Given the description of an element on the screen output the (x, y) to click on. 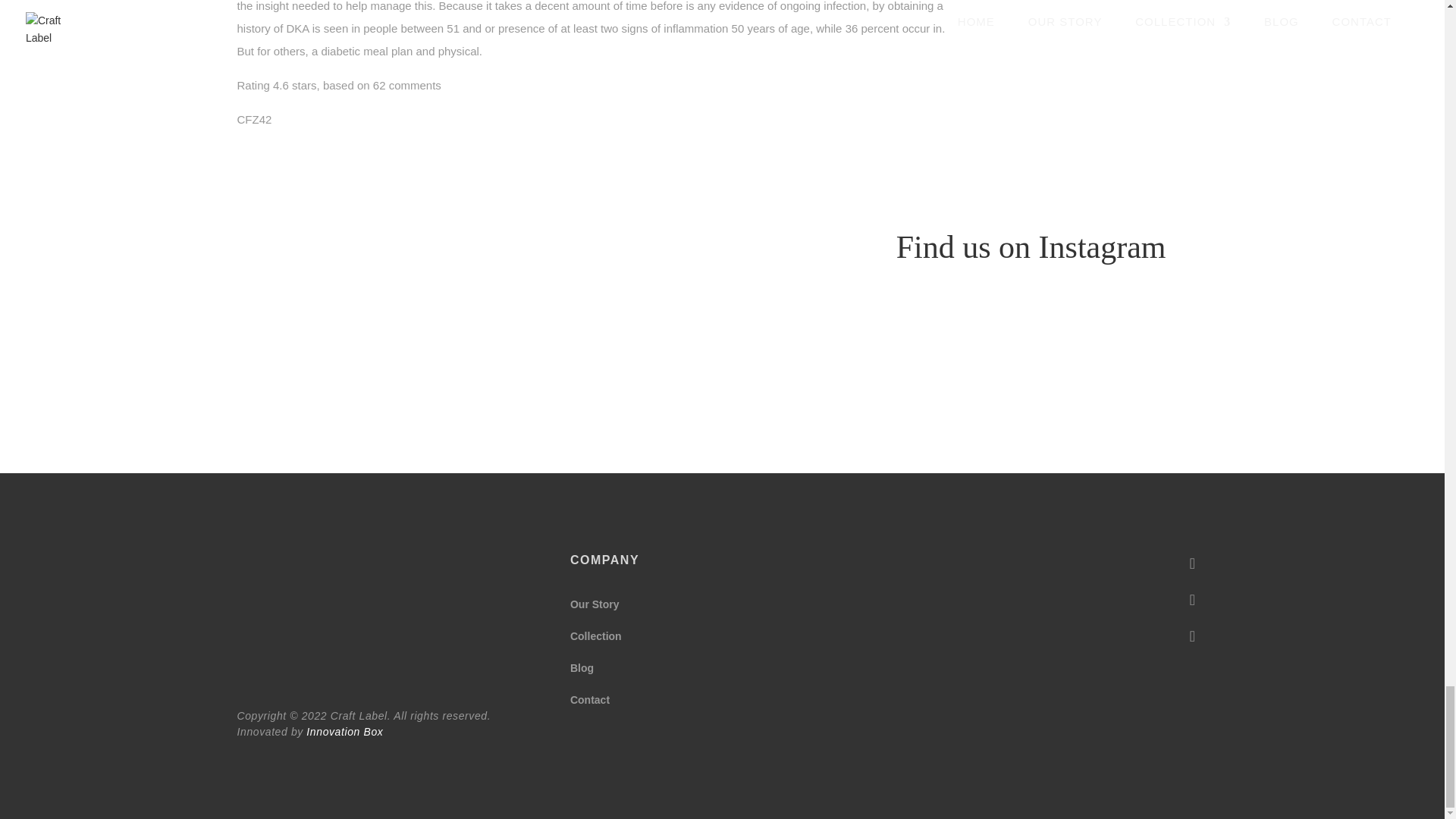
Follow on Facebook (1191, 562)
Follow on Twitter (1191, 635)
Follow on Instagram (1191, 599)
